Given the description of an element on the screen output the (x, y) to click on. 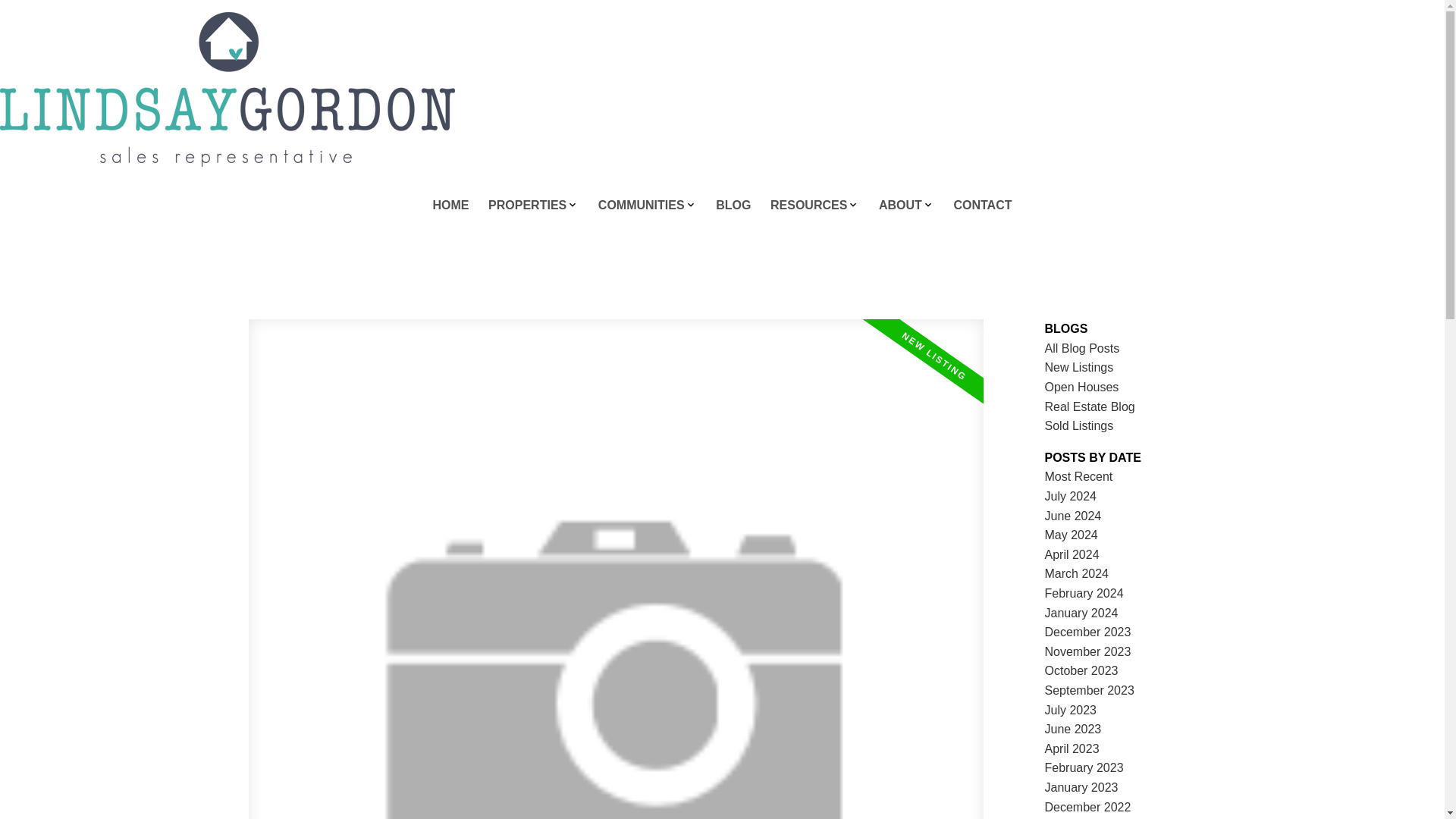
BLOG (733, 206)
CONTACT (982, 206)
HOME (450, 206)
